Given the description of an element on the screen output the (x, y) to click on. 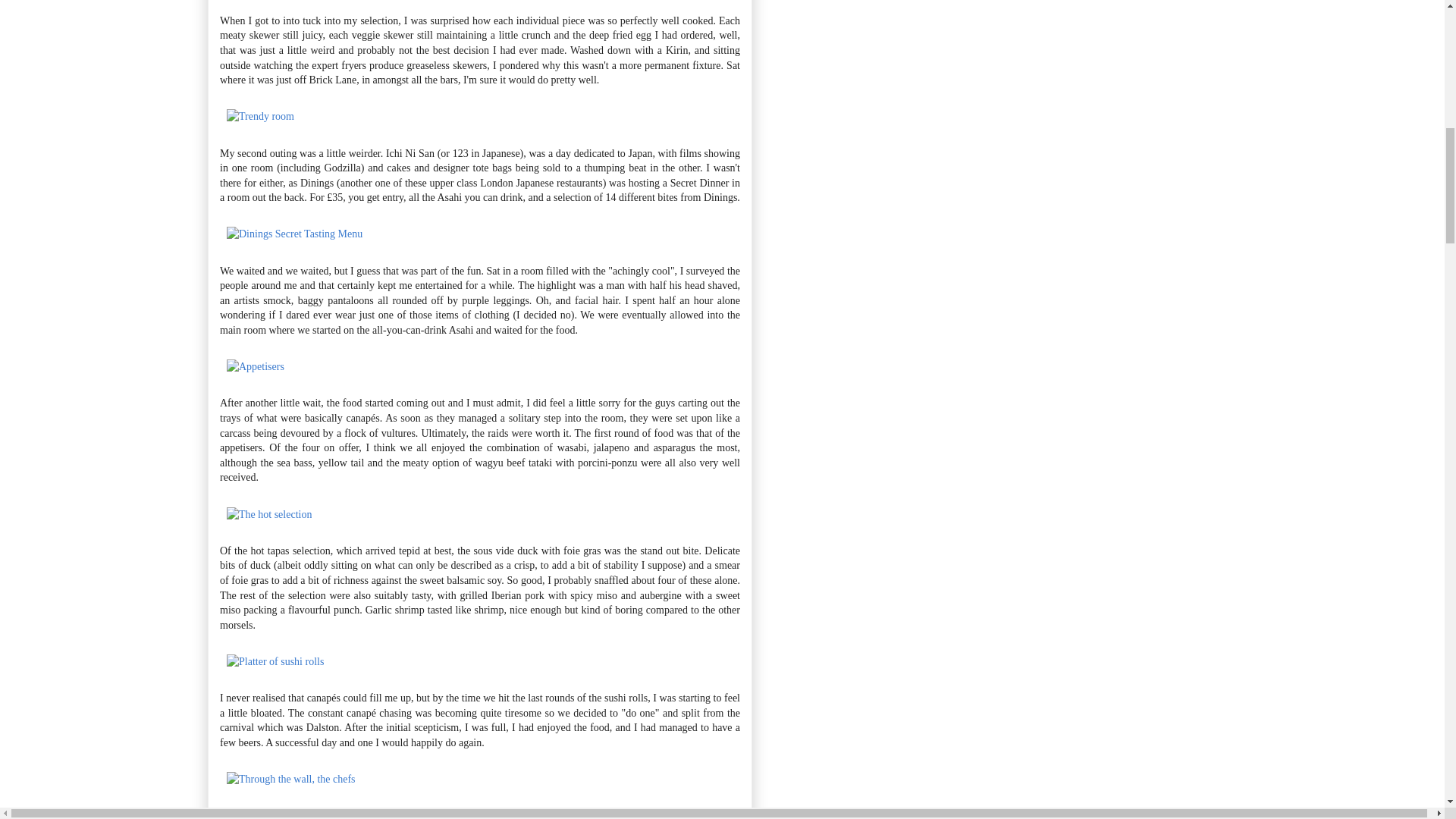
Appetisers by tehbus, on Flickr (255, 366)
The hot selection by tehbus, on Flickr (268, 514)
Through the wall, the chefs by tehbus, on Flickr (290, 778)
Trendy room by tehbus, on Flickr (260, 116)
Dinings Secret Tasting Menu by tehbus, on Flickr (294, 233)
Platter of sushi rolls by tehbus, on Flickr (274, 661)
